Given the description of an element on the screen output the (x, y) to click on. 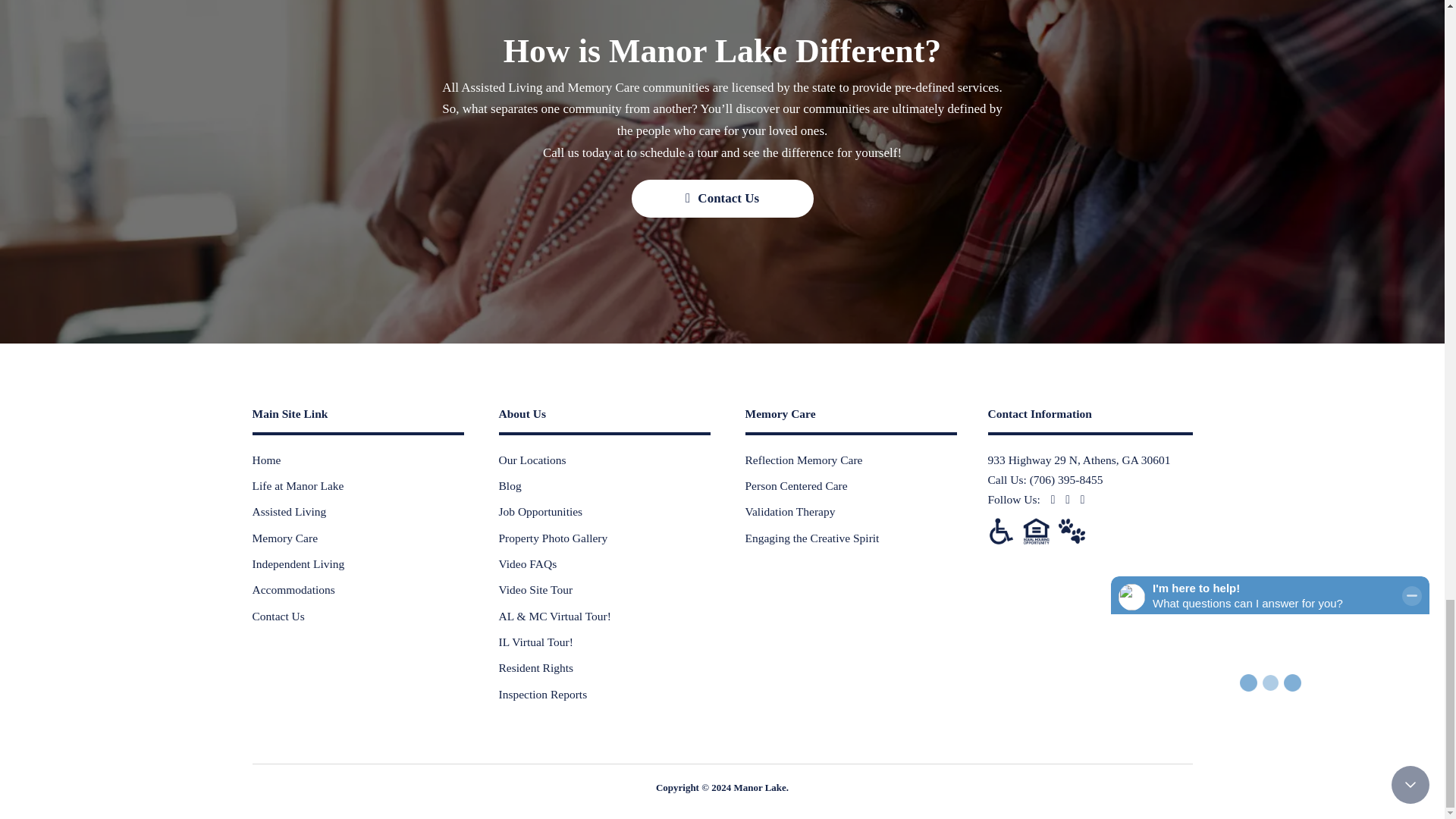
Pet Friendly (1071, 530)
Equal Housing Opportunity (1036, 530)
Americans with Disabilities Act (1000, 530)
